Given the description of an element on the screen output the (x, y) to click on. 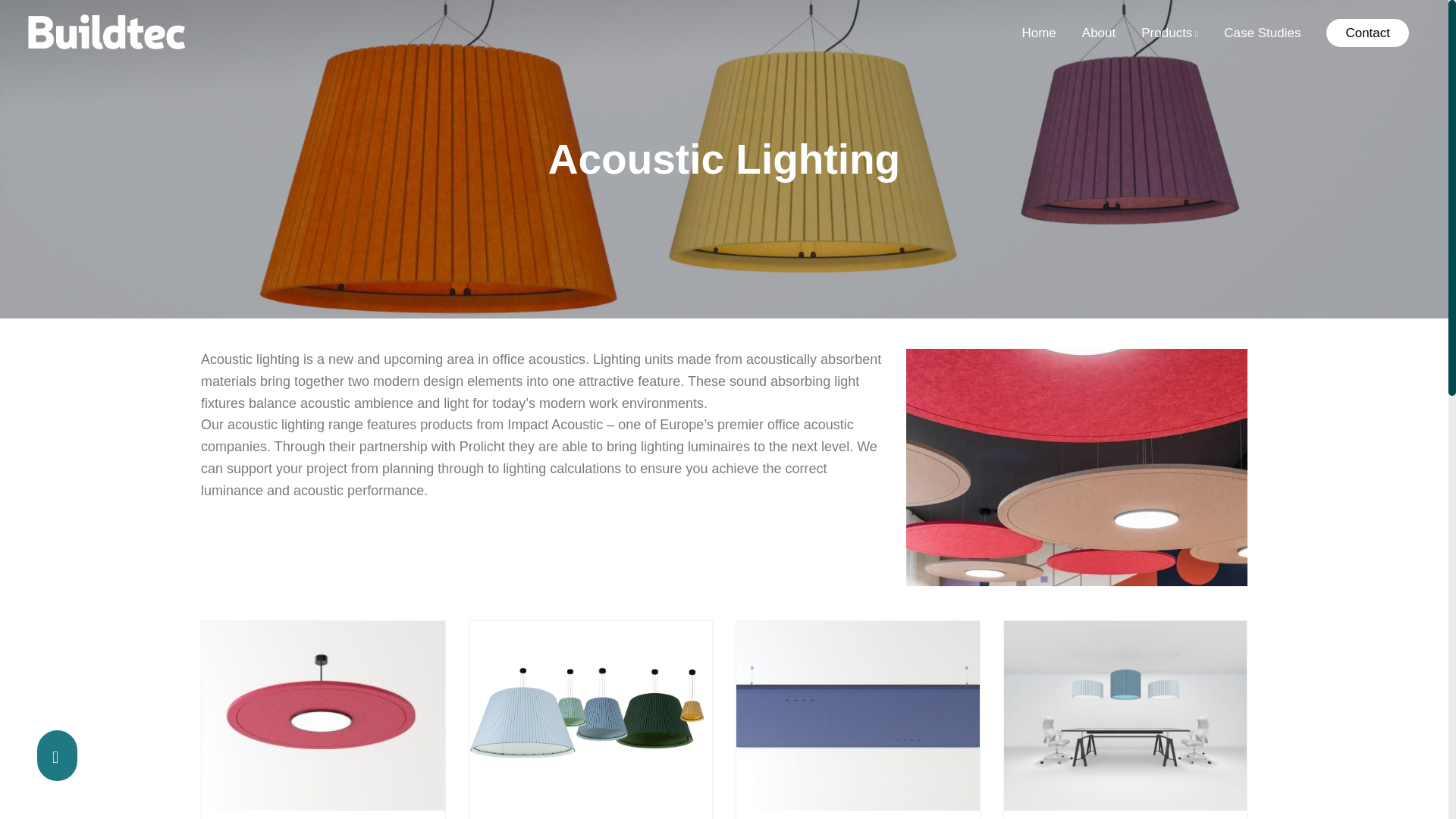
Case Studies (1262, 33)
Home (1038, 33)
Contact (1367, 32)
Products (1169, 33)
About (1098, 33)
